Given the description of an element on the screen output the (x, y) to click on. 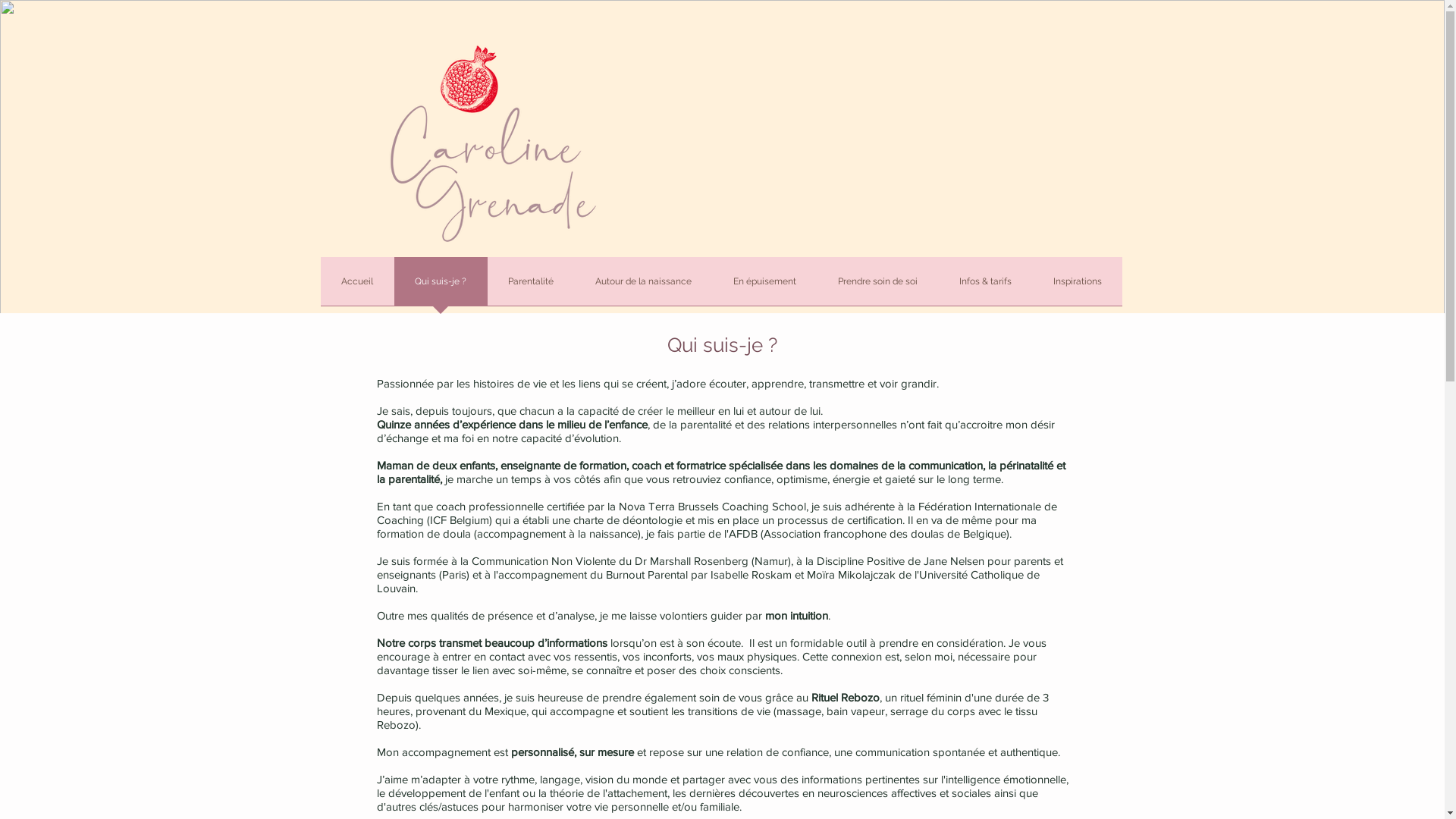
Autour de la naissance Element type: text (643, 286)
Prendre soin de soi Element type: text (877, 286)
Accueil Element type: text (356, 286)
Qui suis-je ? Element type: text (440, 286)
Inspirations Element type: text (1077, 286)
Infos & tarifs Element type: text (985, 286)
